Given the description of an element on the screen output the (x, y) to click on. 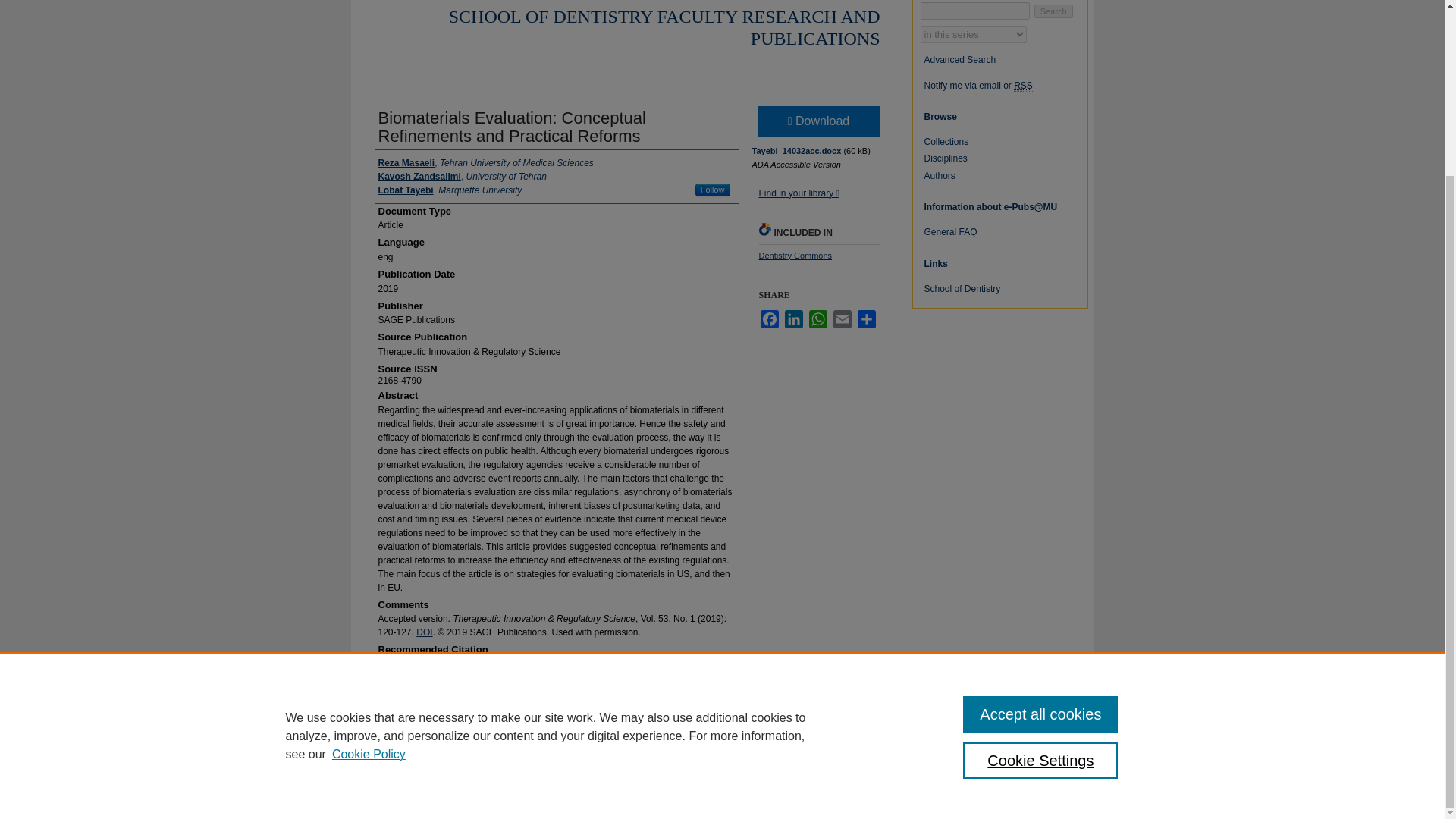
Reza Masaeli, Tehran University of Medical Sciences (484, 162)
Search (1053, 11)
Email (841, 319)
Search (1053, 11)
Dentistry Commons (794, 255)
Really Simple Syndication (1022, 85)
Email or RSS Notifications (1008, 85)
Follow Lobat Tayebi (712, 189)
Lobat Tayebi, Marquette University (449, 190)
OpenURL (798, 193)
Kavosh Zandsalimi, University of Tehran (461, 176)
Download (818, 121)
Follow (712, 189)
Facebook (768, 319)
